Given the description of an element on the screen output the (x, y) to click on. 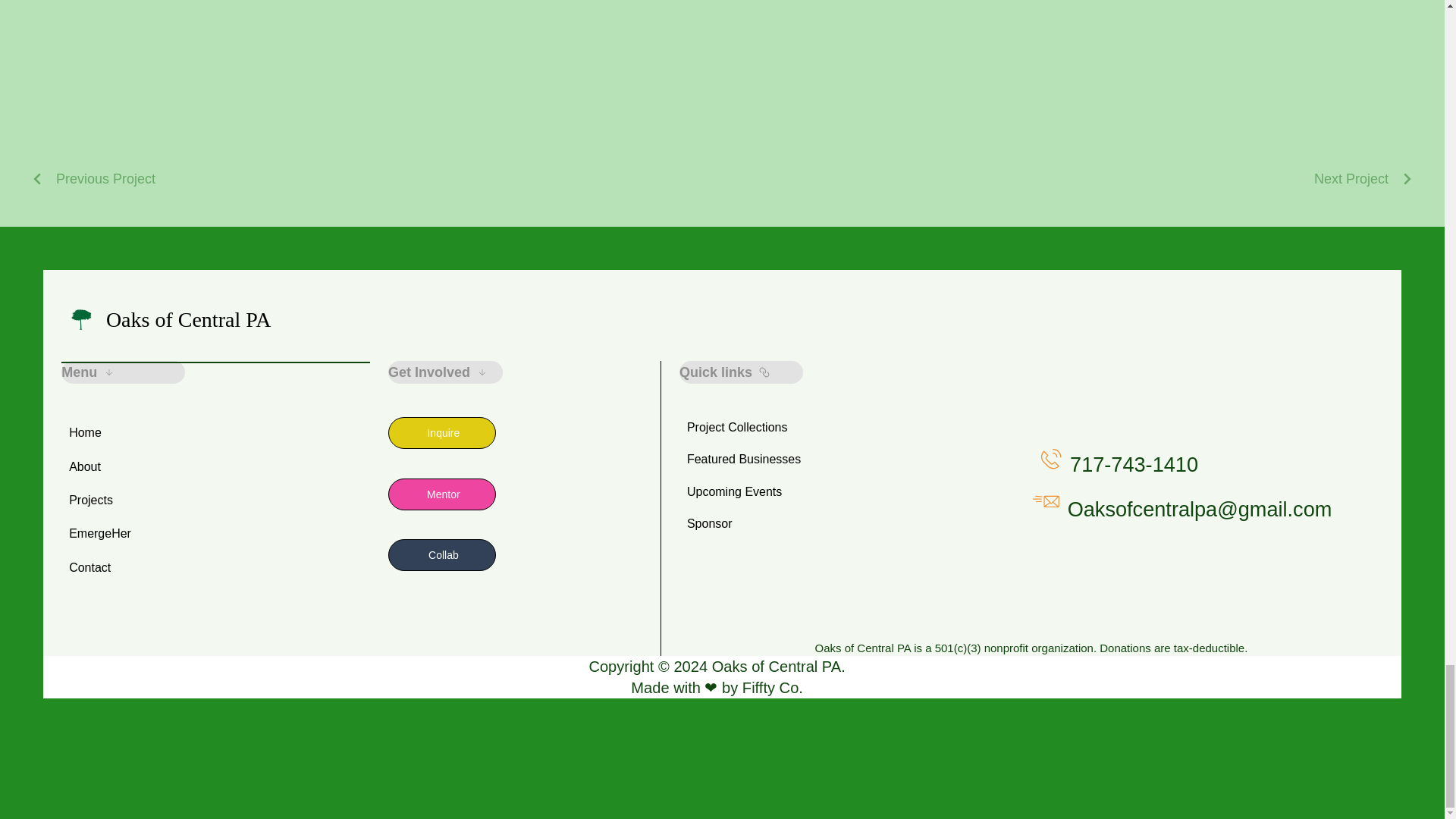
Home (122, 432)
Collab (442, 554)
Mentor (442, 494)
Quick links (741, 372)
About (122, 467)
Inquire (442, 432)
Previous Project (92, 179)
Next Project (1363, 179)
Featured Businesses (798, 459)
EmergeHer (122, 533)
